Given the description of an element on the screen output the (x, y) to click on. 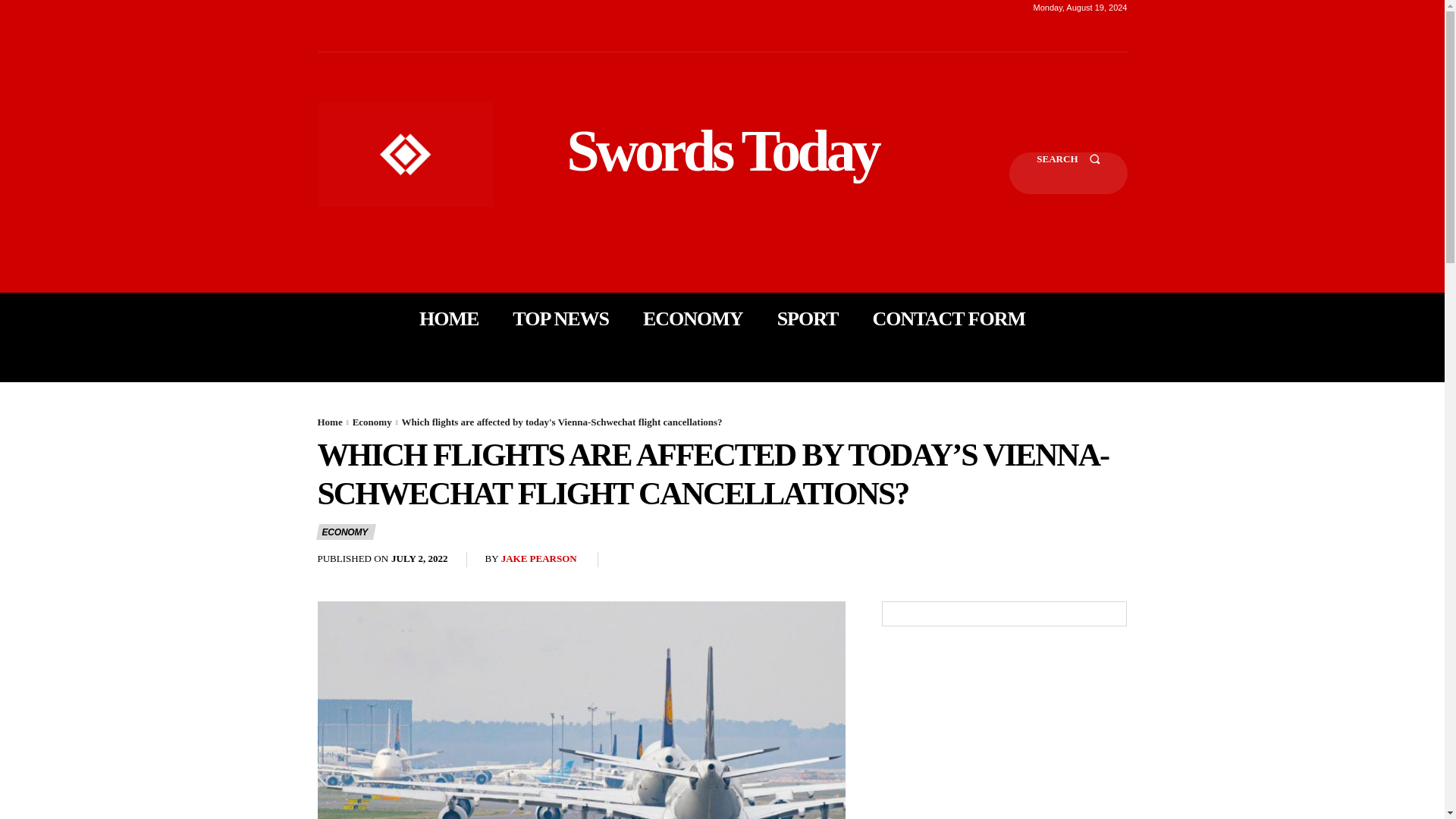
Home (329, 421)
TOP NEWS (560, 318)
HOME (449, 318)
SPORT (807, 318)
ECONOMY (345, 531)
Economy (371, 421)
View all posts in Economy (371, 421)
SEARCH (1067, 173)
JAKE PEARSON (538, 558)
